Given the description of an element on the screen output the (x, y) to click on. 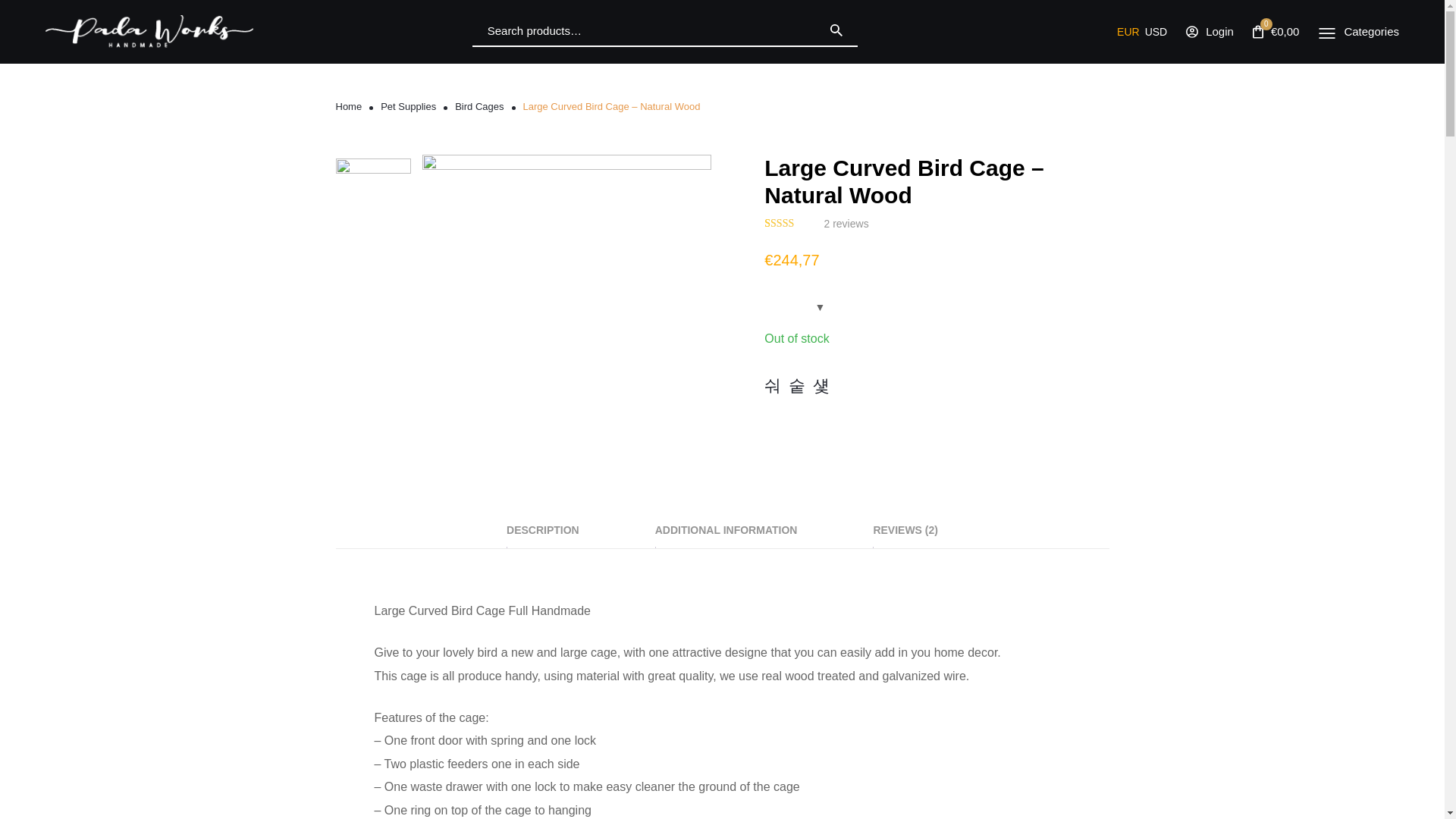
USD (1155, 32)
Categories (1358, 32)
Login (1209, 32)
Search (45, 17)
EUR (1128, 32)
